Given the description of an element on the screen output the (x, y) to click on. 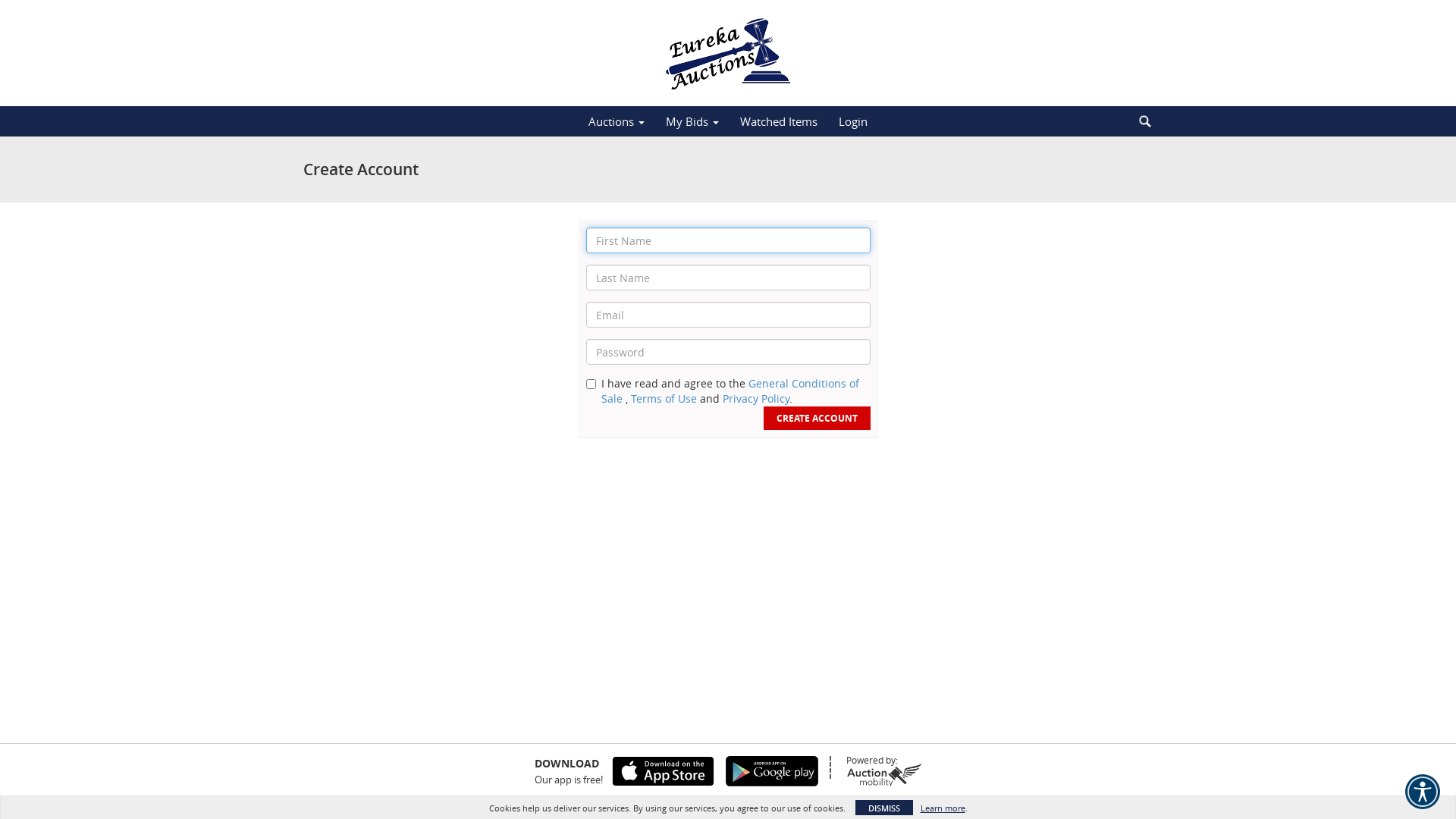
My Bids Element type: text (692, 121)
Terms and Conditions Element type: text (879, 804)
General Conditions of Sale Element type: text (729, 390)
Login Element type: text (853, 121)
Create Account Element type: text (815, 417)
Watched Items Element type: text (778, 121)
Auction Mobility Element type: text (696, 803)
Learn more Element type: text (942, 807)
Privacy Policy Element type: text (754, 398)
Terms of Use Element type: text (663, 398)
DISMISS Element type: text (884, 807)
Auctions Element type: text (616, 121)
